Given the description of an element on the screen output the (x, y) to click on. 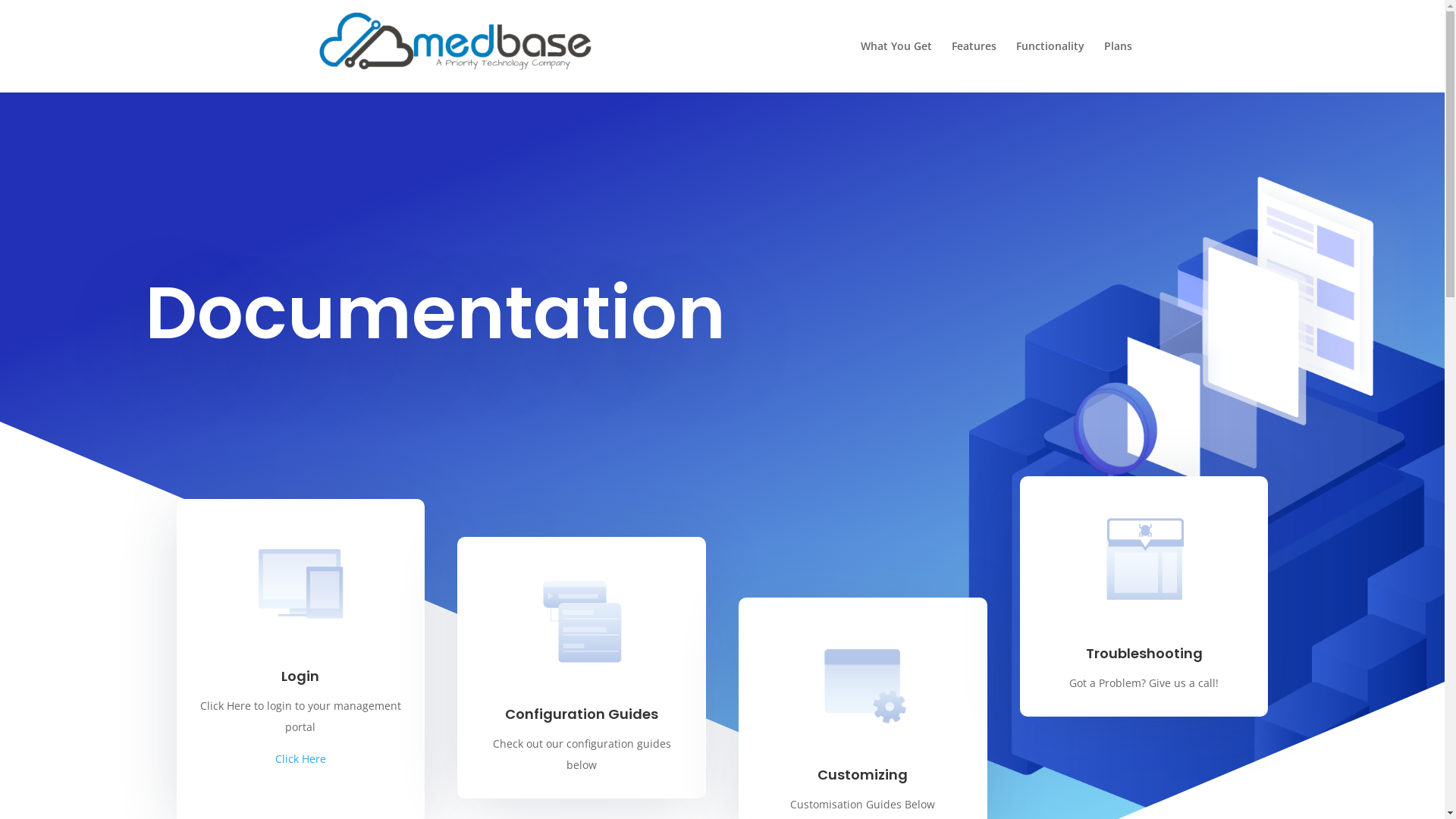
What You Get Element type: text (895, 66)
Functionality Element type: text (1050, 66)
Click Here Element type: text (300, 758)
Plans Element type: text (1118, 66)
Features Element type: text (972, 66)
